Given the description of an element on the screen output the (x, y) to click on. 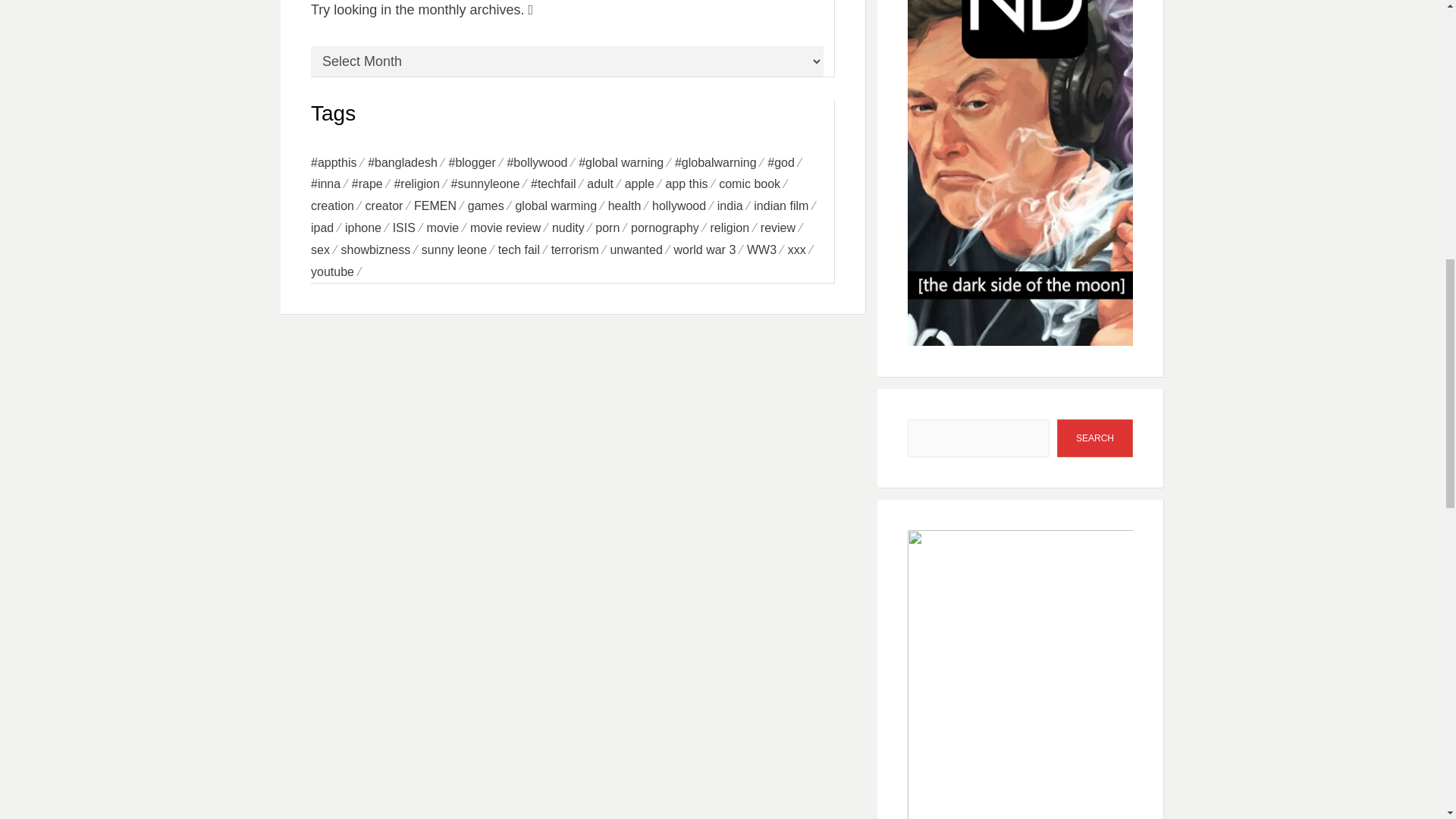
adult (605, 184)
comic book (755, 184)
apple (644, 184)
app this (692, 184)
